Given the description of an element on the screen output the (x, y) to click on. 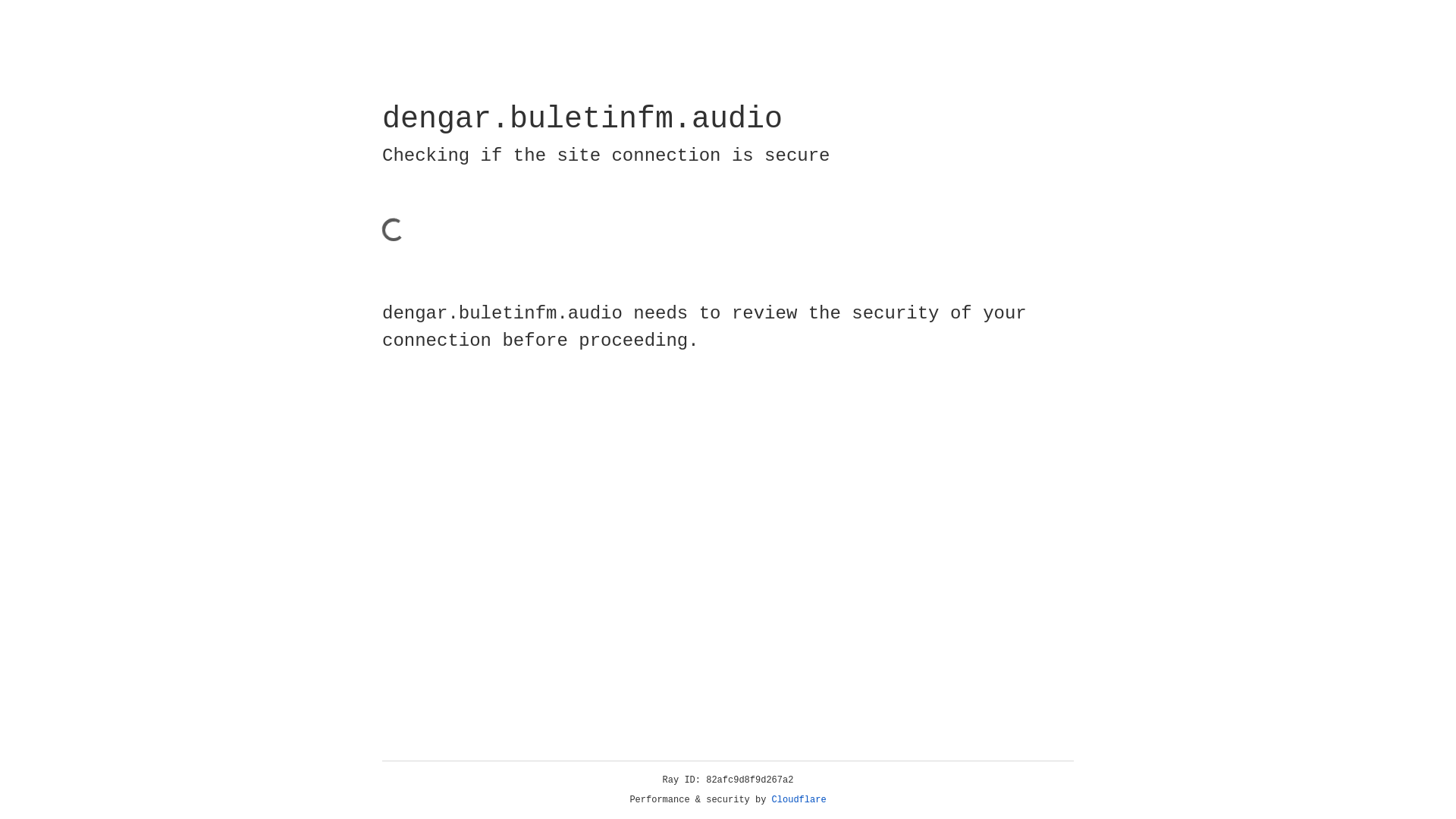
Cloudflare Element type: text (798, 799)
